Given the description of an element on the screen output the (x, y) to click on. 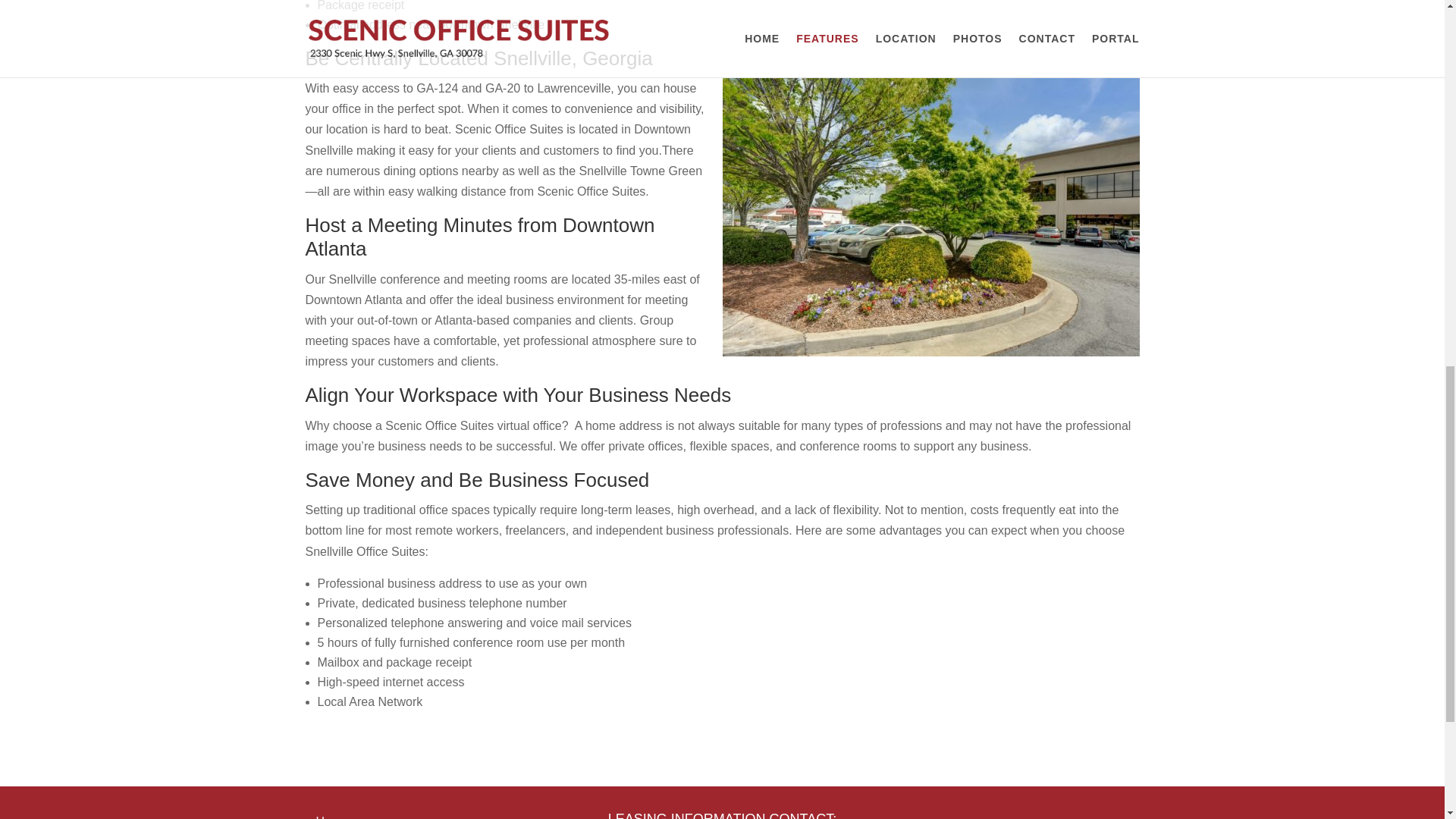
Home (331, 816)
